Given the description of an element on the screen output the (x, y) to click on. 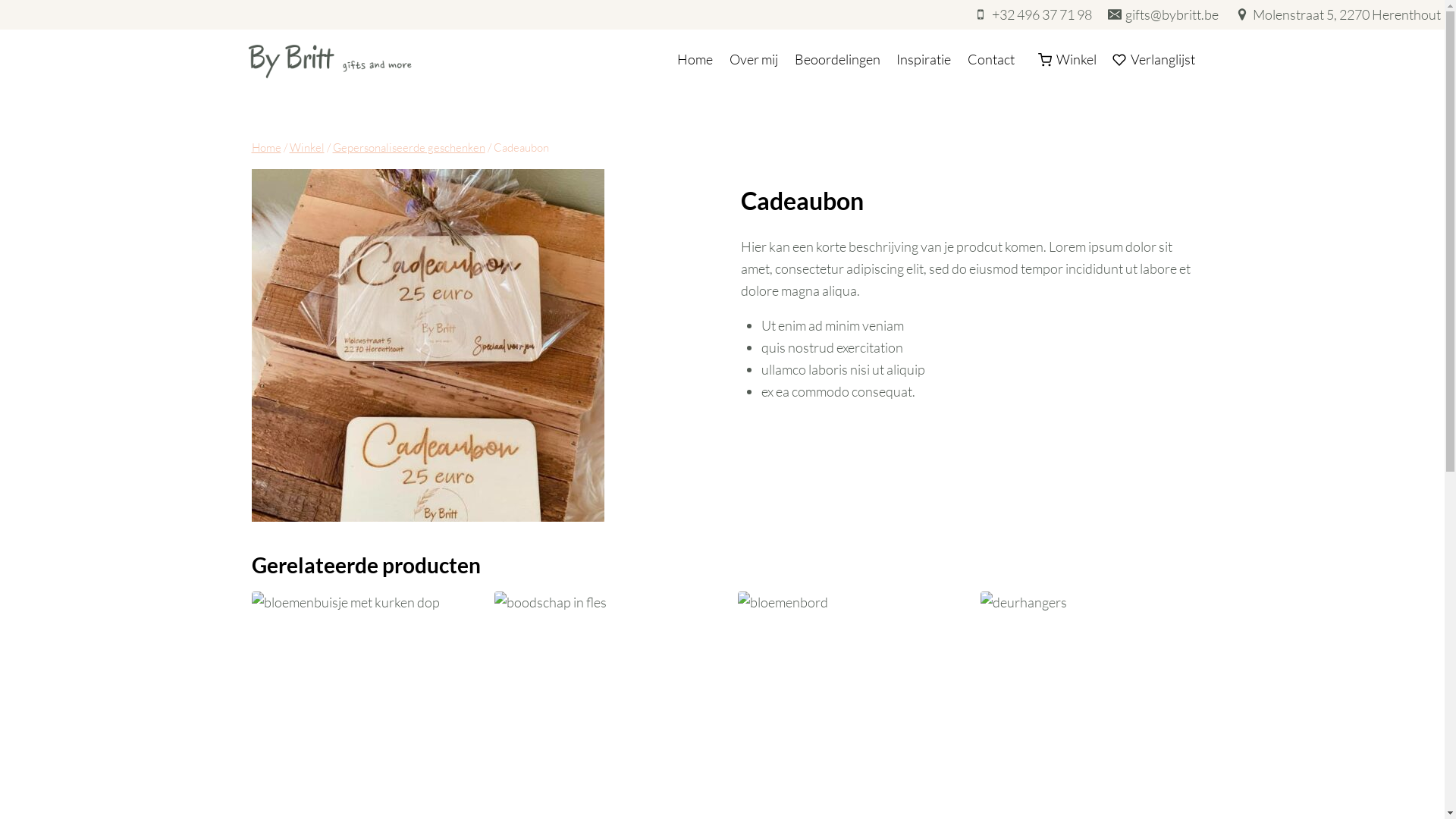
Contact Element type: text (990, 59)
Inspiratie Element type: text (923, 59)
Verlanglijst Element type: text (1153, 59)
Over mij Element type: text (753, 59)
Molenstraat 5, 2270 Herenthout Element type: text (1337, 14)
cadeaubon Element type: hover (427, 345)
Winkel Element type: text (1067, 59)
Gepersonaliseerde geschenken Element type: text (408, 147)
Winkel Element type: text (306, 147)
Beoordelingen Element type: text (837, 59)
Home Element type: text (695, 59)
gifts@bybritt.be Element type: text (1162, 14)
Home Element type: text (266, 147)
